Given the description of an element on the screen output the (x, y) to click on. 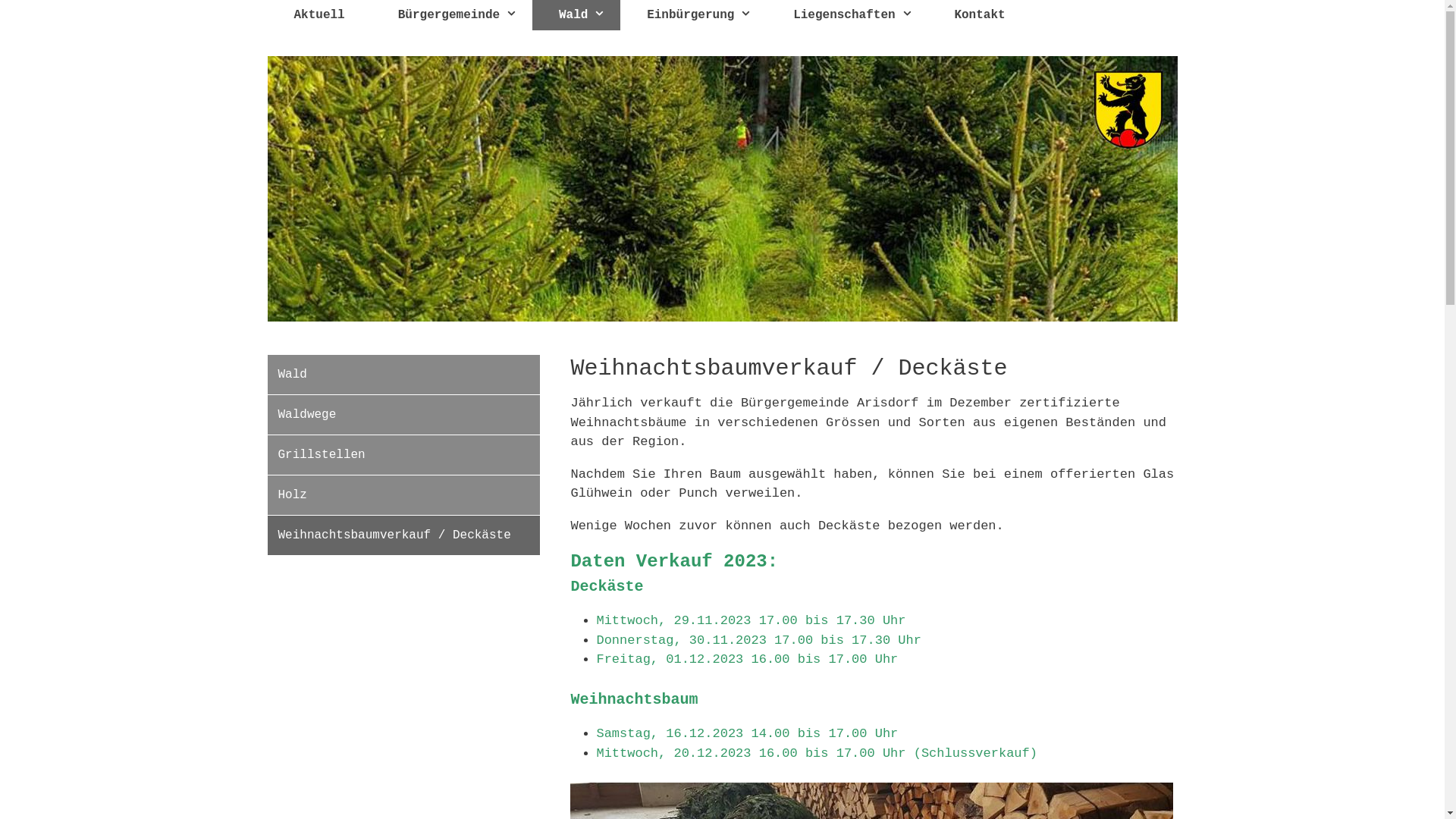
Kontakt Element type: text (979, 15)
Wald Element type: text (402, 374)
Liegenschaften Element type: text (846, 15)
Wald Element type: text (576, 15)
Waldwege Element type: text (402, 414)
Aktuell Element type: text (318, 15)
Holz Element type: text (402, 494)
Weihnachtsbaumverkauf Element type: hover (721, 188)
Grillstellen Element type: text (402, 454)
